Given the description of an element on the screen output the (x, y) to click on. 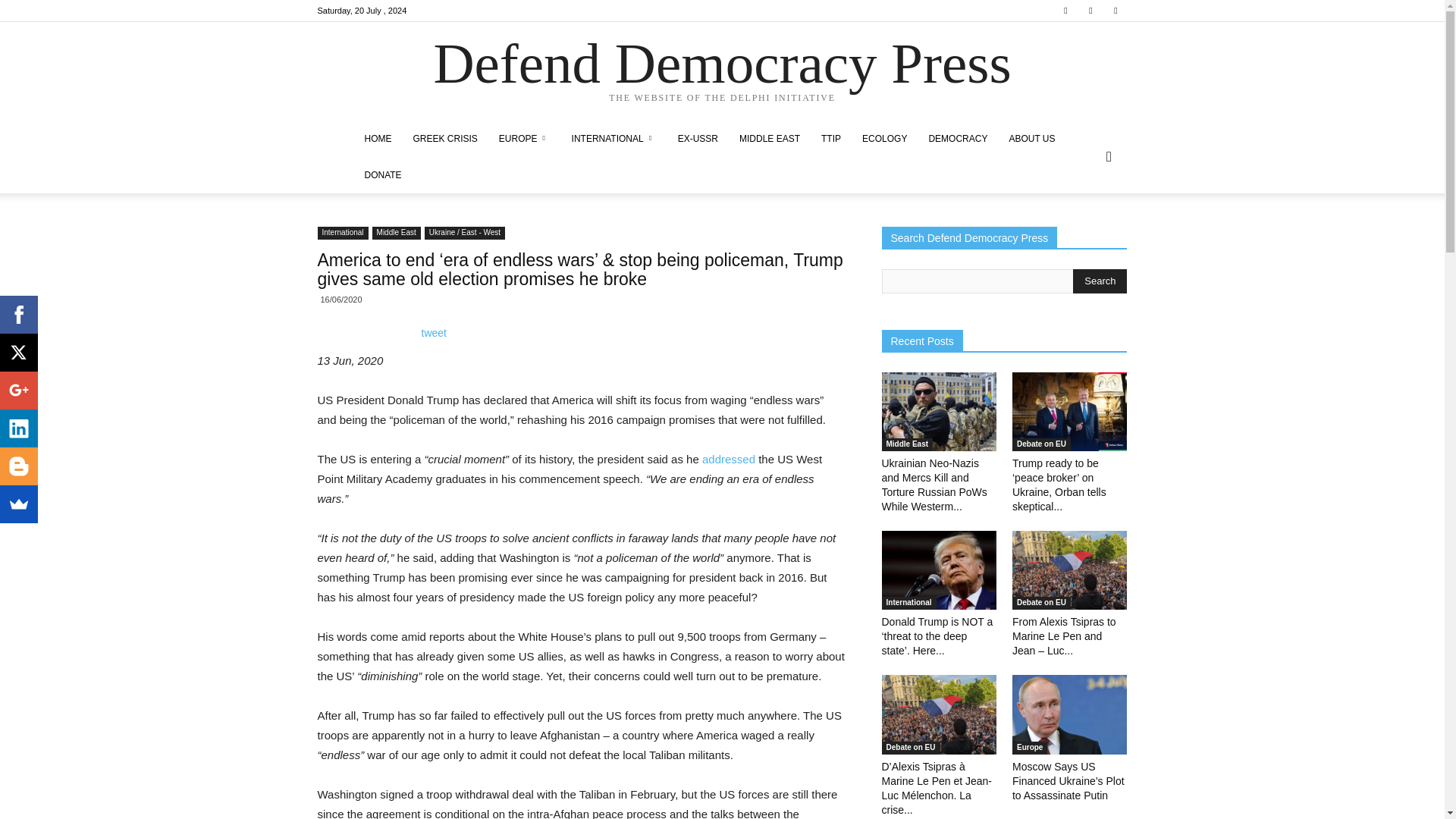
Youtube (1114, 10)
Twitter (1090, 10)
Search (1099, 281)
Defend Democracy Press THE WEBSITE OF THE DELPHI INITIATIVE (721, 72)
Facebook (1065, 10)
GREEK CRISIS (444, 138)
EX-USSR (697, 138)
INTERNATIONAL (613, 138)
HOME (377, 138)
EUROPE (523, 138)
